Given the description of an element on the screen output the (x, y) to click on. 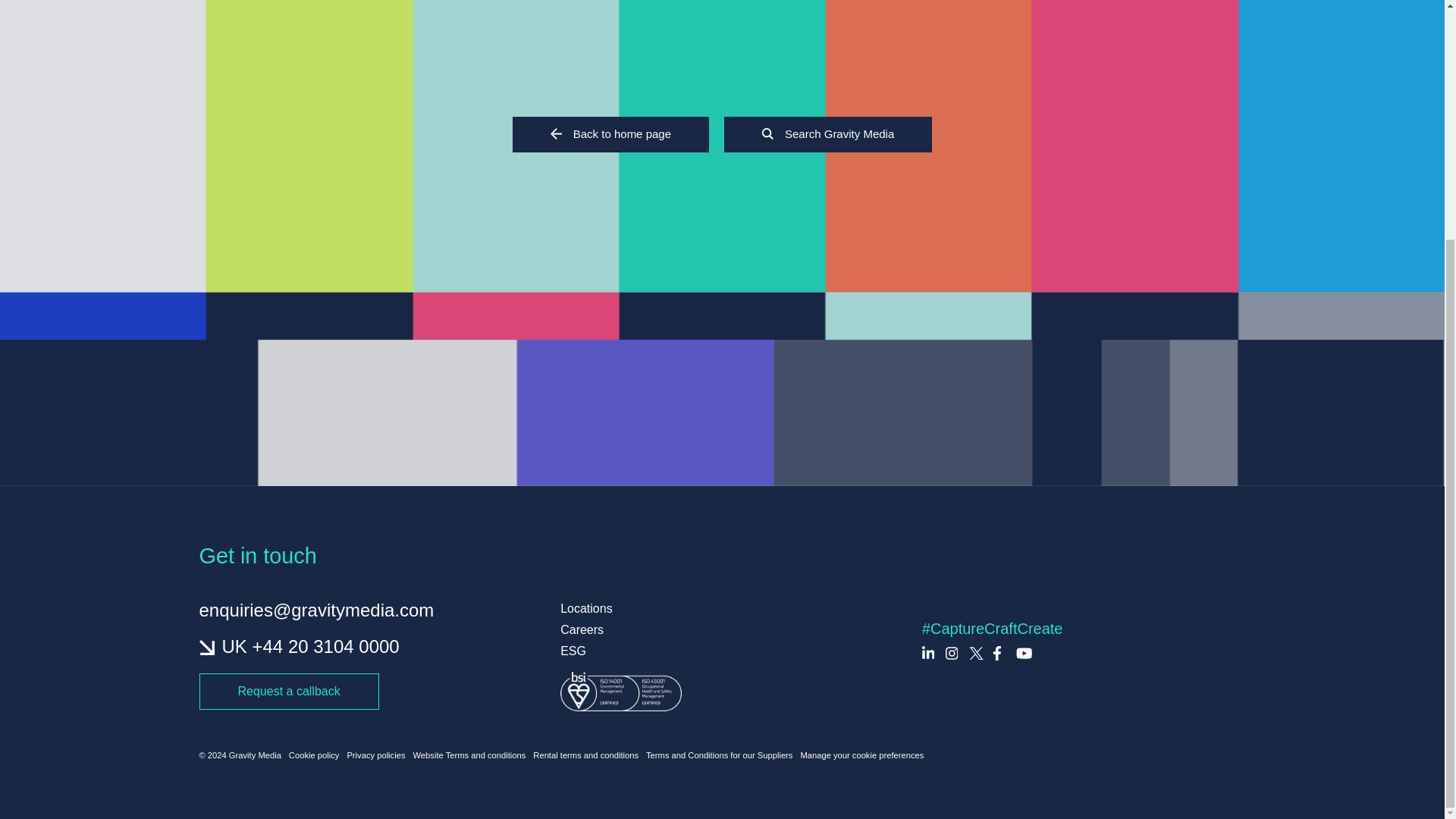
Privacy policies (375, 755)
Locations (721, 608)
ESG (721, 651)
Back to home page (610, 134)
Website Terms and conditions (469, 755)
Careers (721, 629)
Cookie policy (313, 755)
Terms and Conditions for our Suppliers (719, 755)
Rental terms and conditions (585, 755)
Search Gravity Media (827, 134)
Manage your cookie preferences (861, 755)
Request a callback (288, 691)
